Given the description of an element on the screen output the (x, y) to click on. 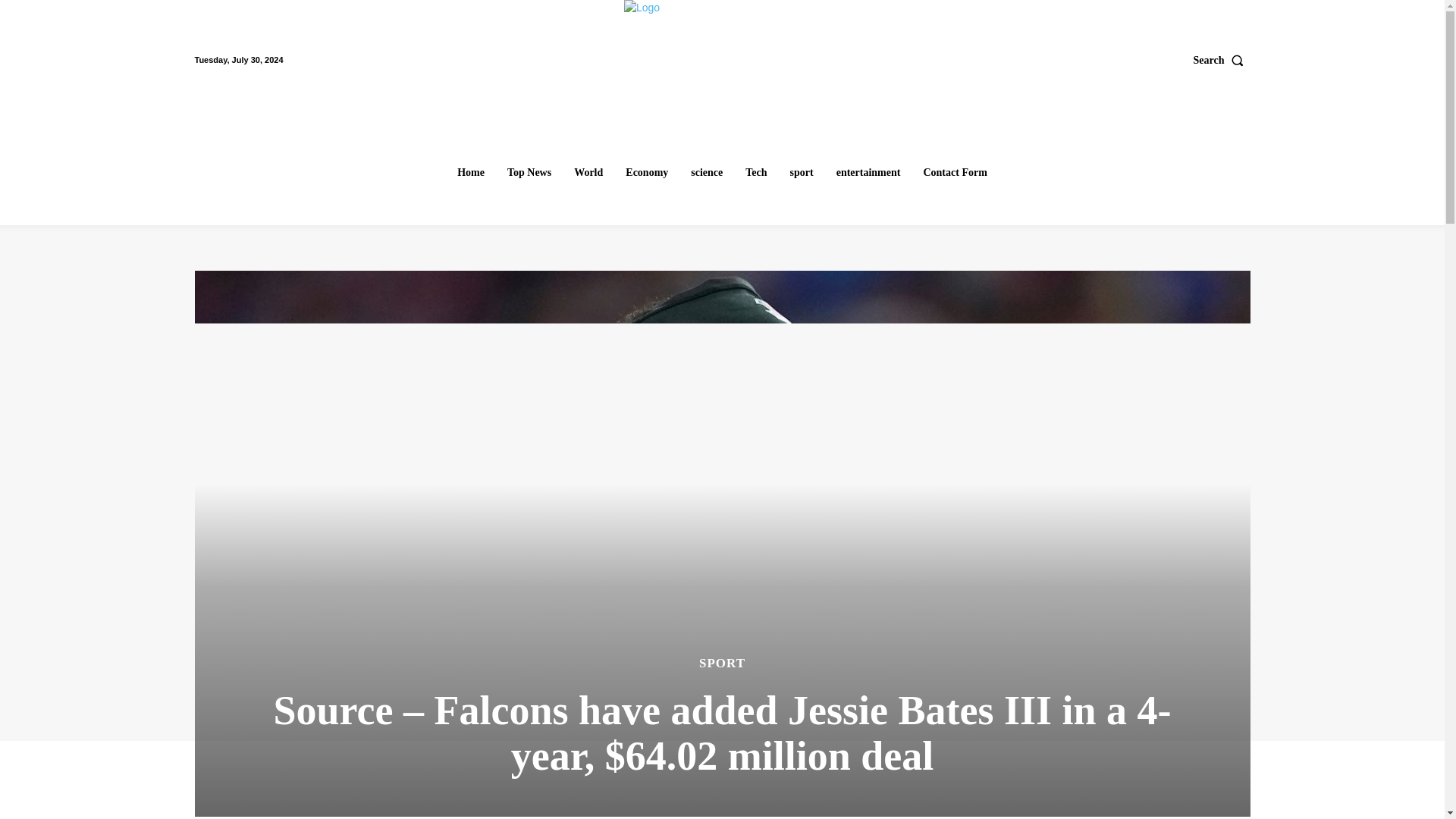
Tech (756, 173)
entertainment (868, 173)
Top News (529, 173)
Contact Form (954, 173)
Economy (646, 173)
World (588, 173)
science (706, 173)
sport (802, 173)
Home (470, 173)
Search (1221, 60)
